Given the description of an element on the screen output the (x, y) to click on. 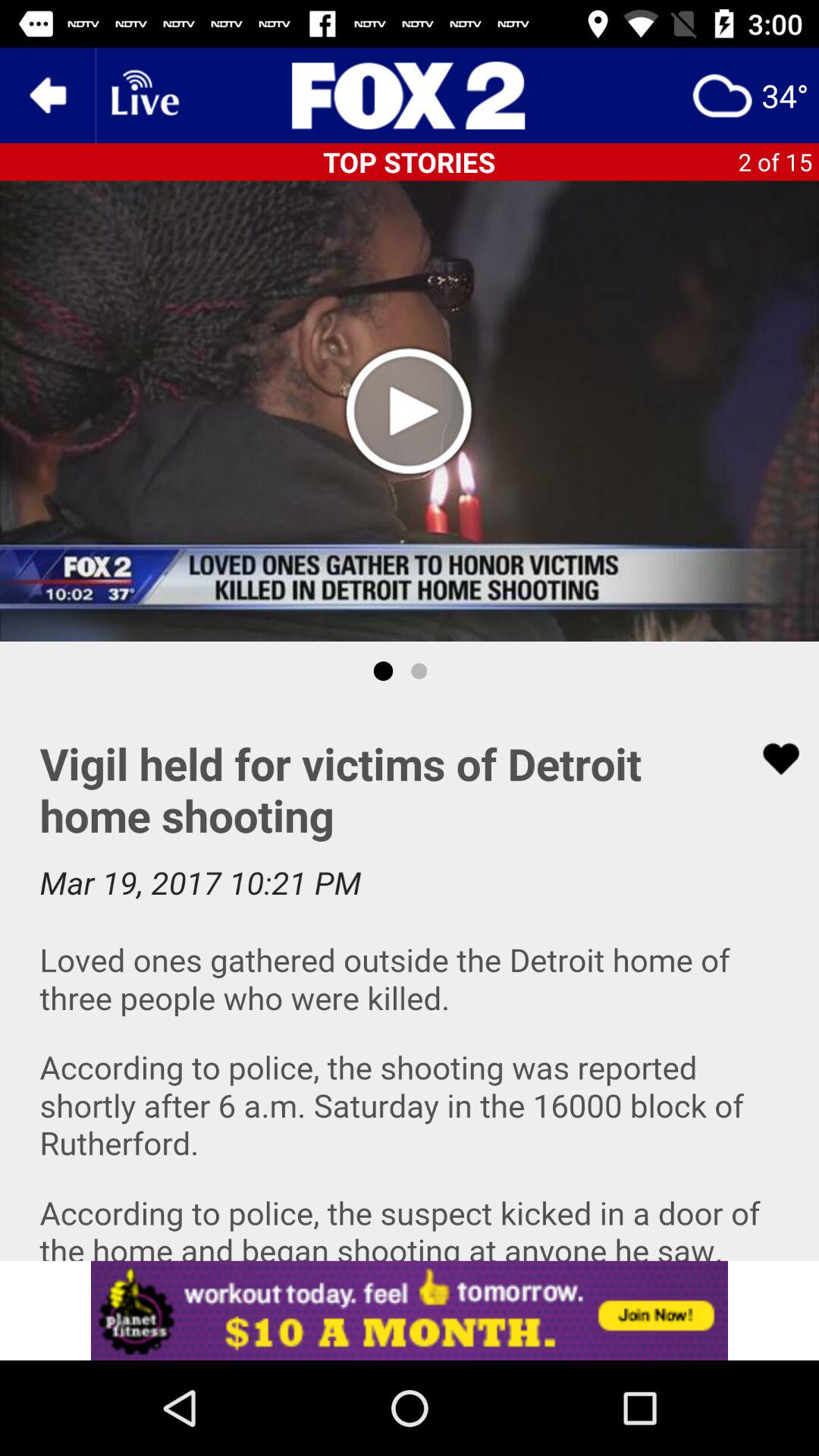
live fox (409, 95)
